Given the description of an element on the screen output the (x, y) to click on. 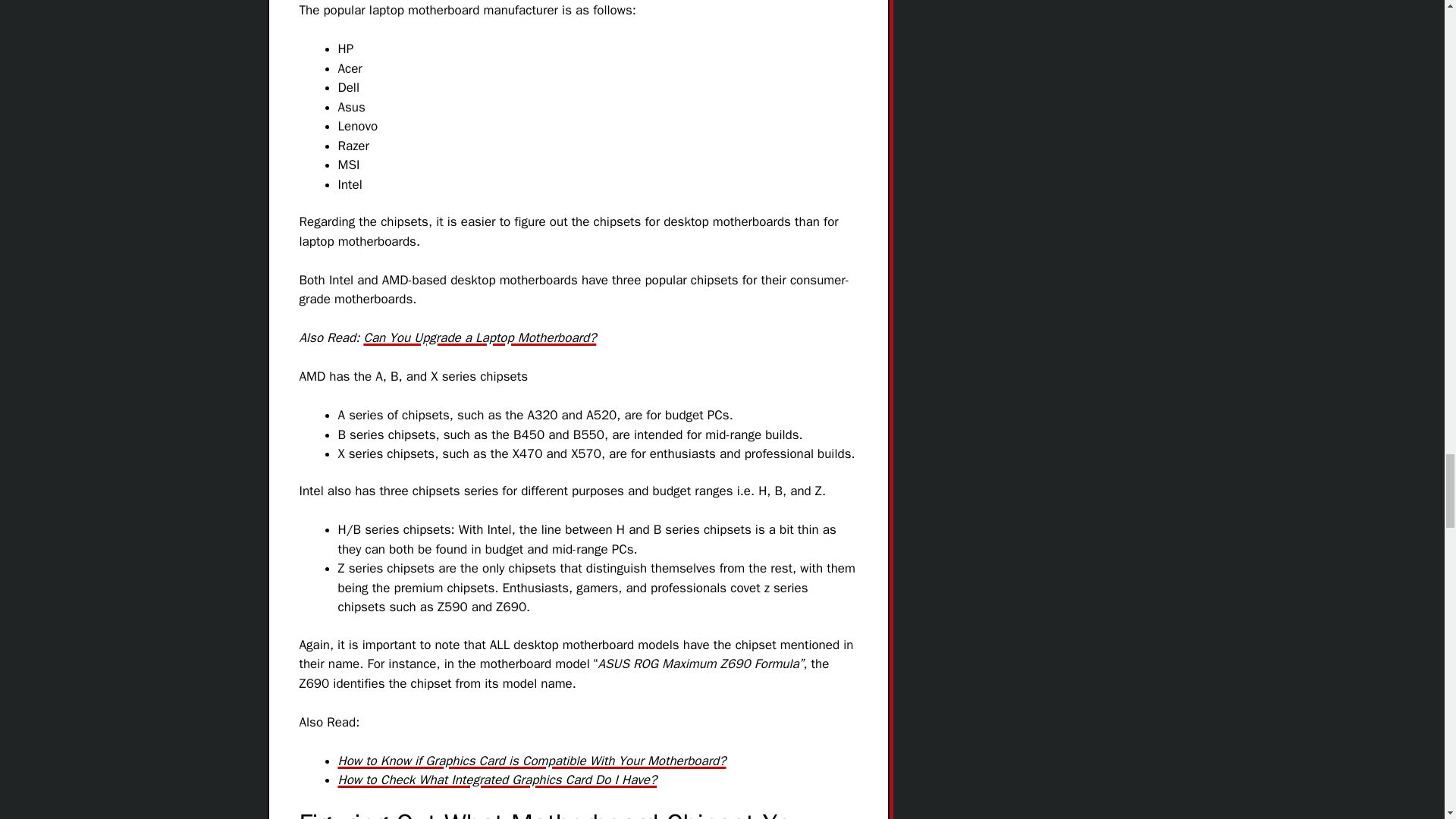
Can You Upgrade a Laptop Motherboard? (478, 337)
How to Check What Integrated Graphics Card Do I Have? (497, 779)
